Given the description of an element on the screen output the (x, y) to click on. 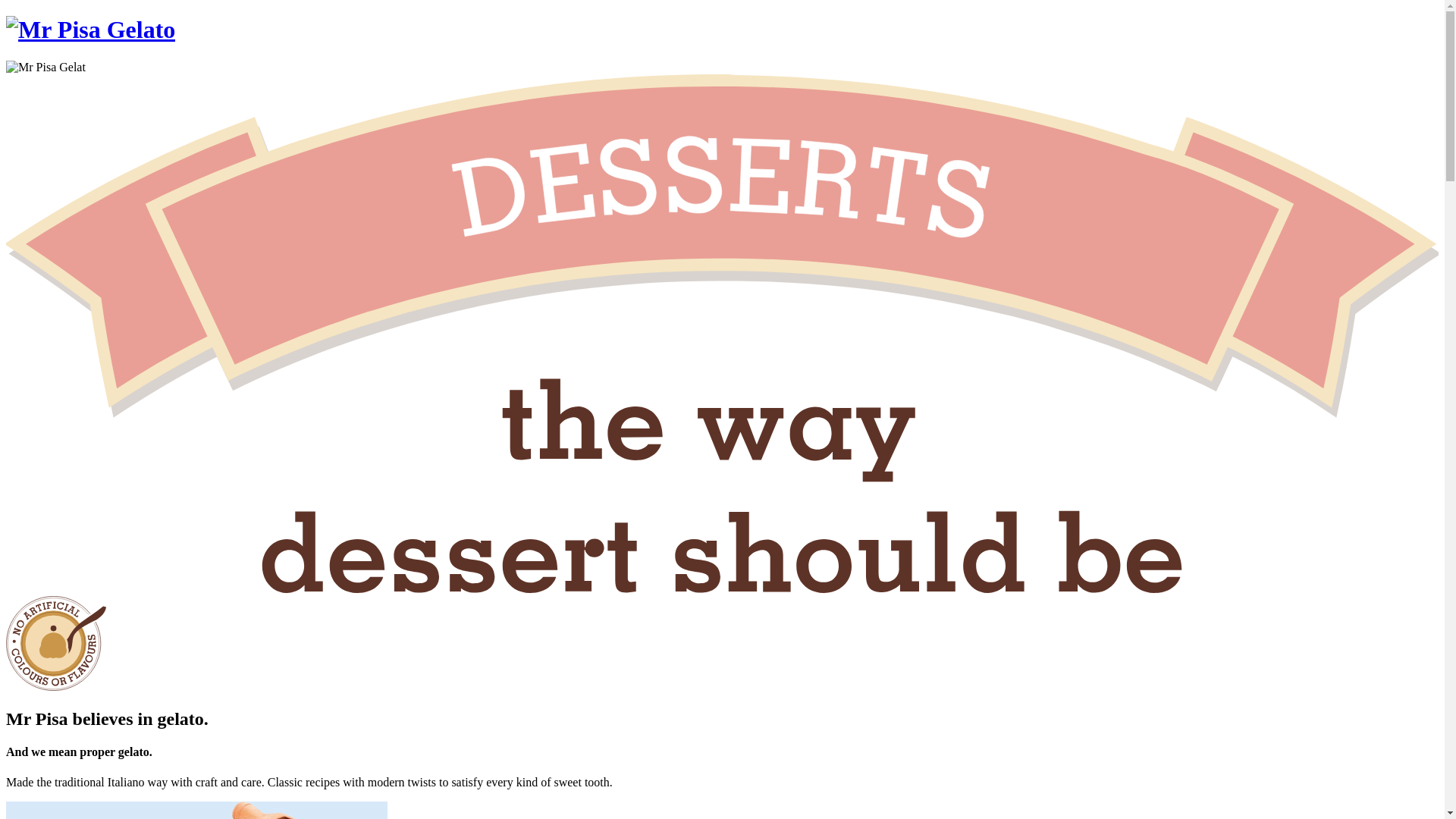
Mr Pisa Gelato Element type: hover (90, 29)
